Given the description of an element on the screen output the (x, y) to click on. 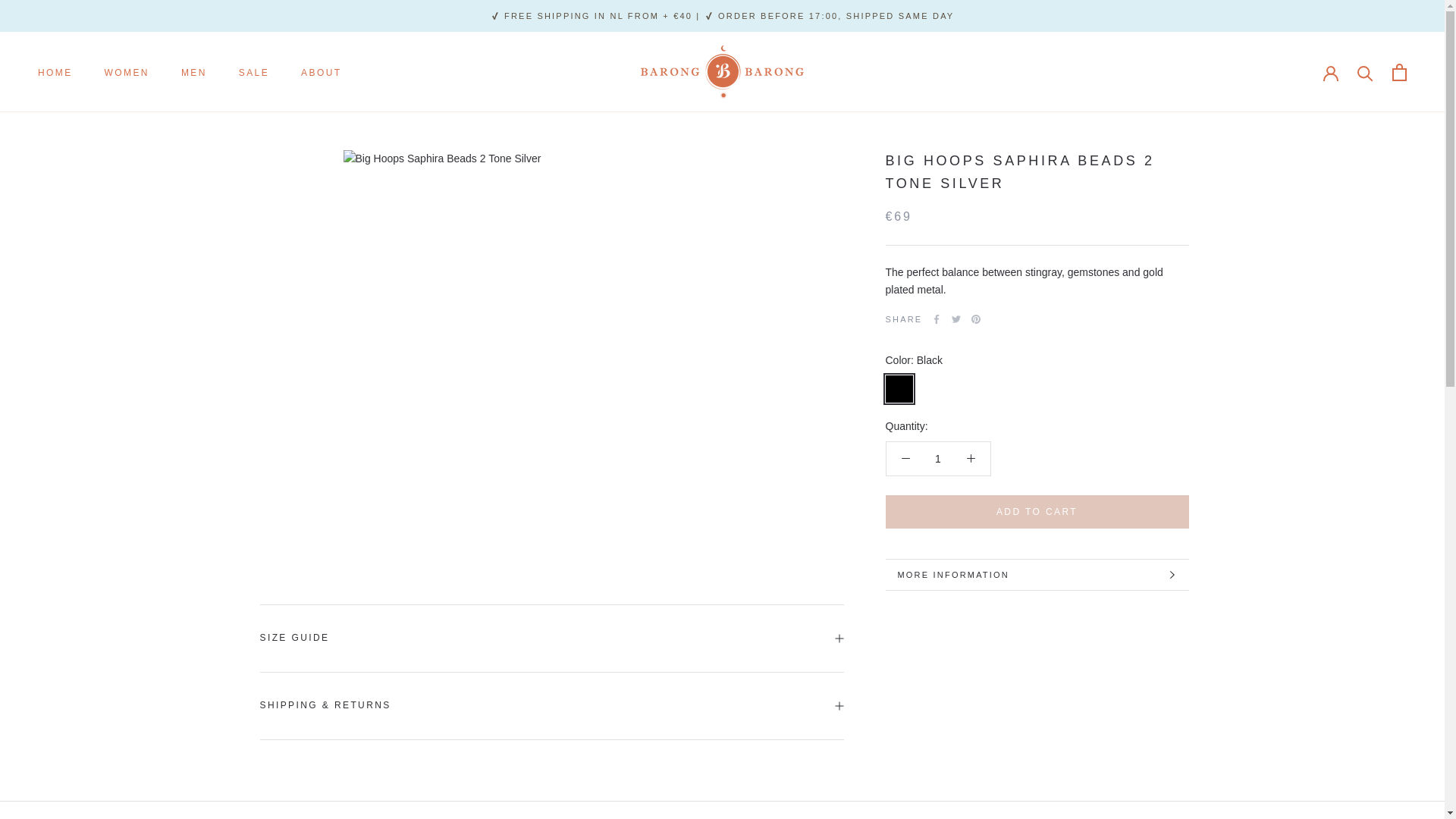
1 (126, 72)
